Given the description of an element on the screen output the (x, y) to click on. 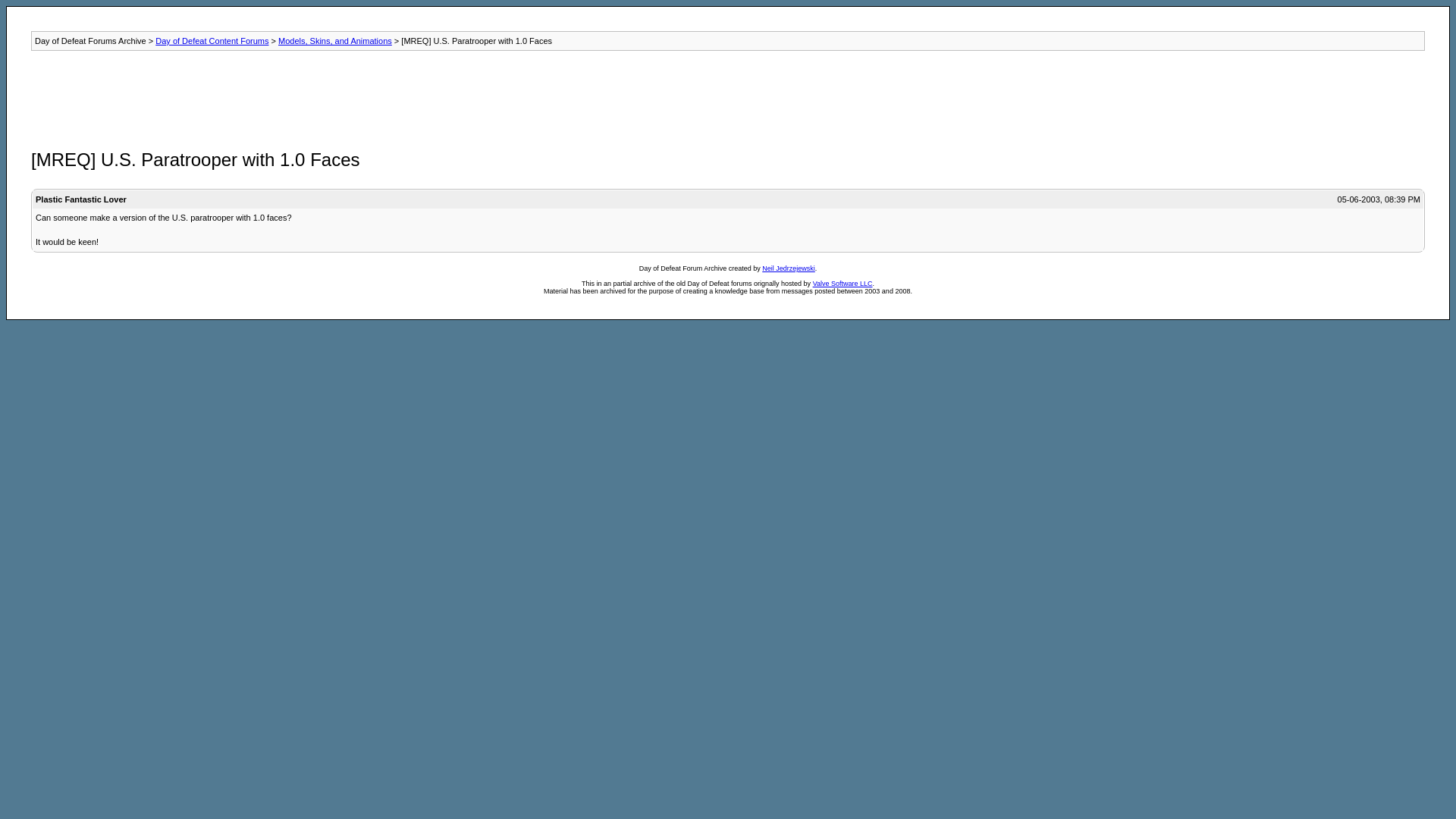
Valve Software LLC (842, 283)
Neil Jedrzejewski (788, 267)
Advertisement (306, 97)
Day of Defeat Content Forums (211, 40)
Models, Skins, and Animations (334, 40)
